Given the description of an element on the screen output the (x, y) to click on. 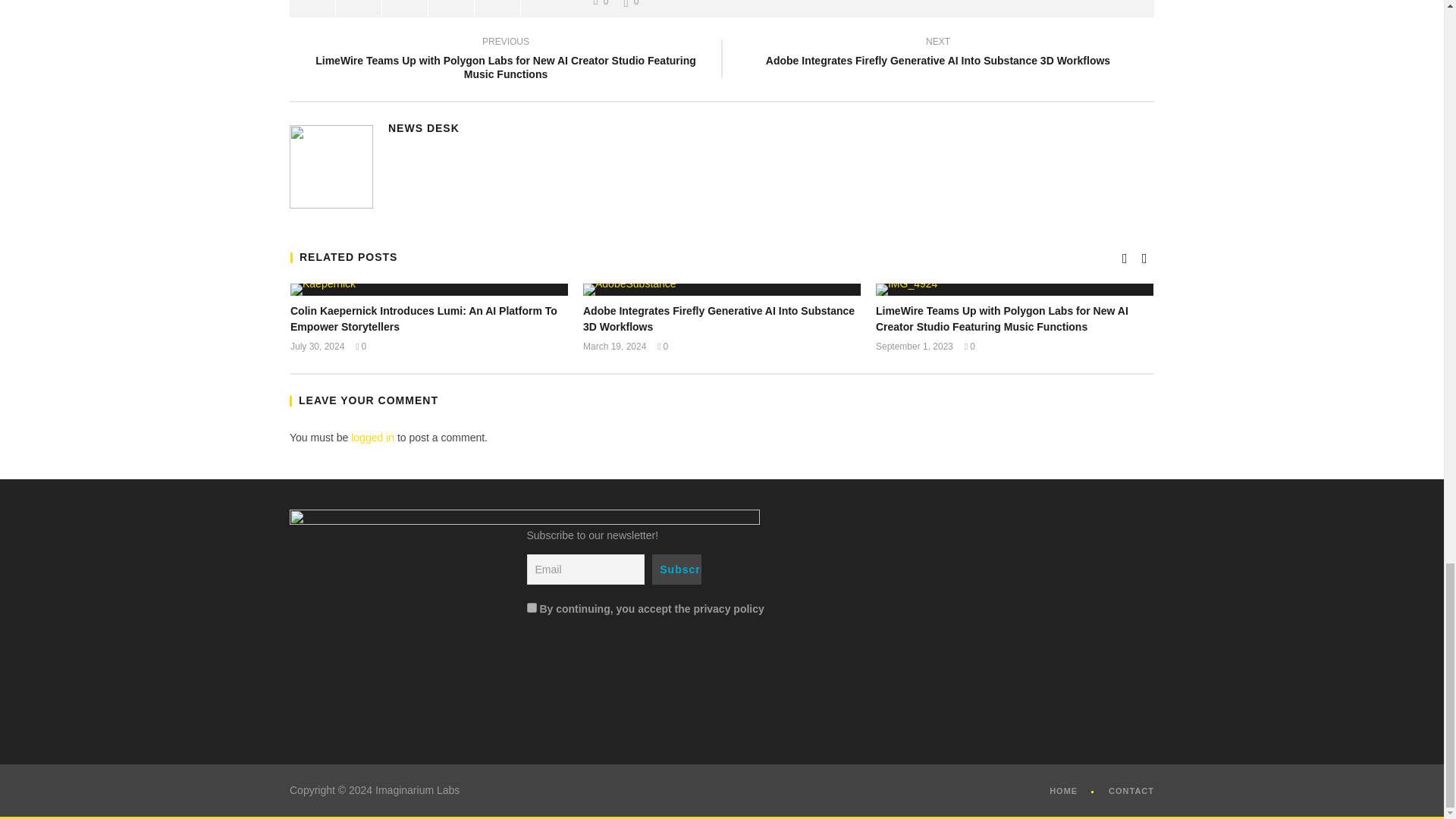
Subscribe (676, 569)
on (530, 607)
